Given the description of an element on the screen output the (x, y) to click on. 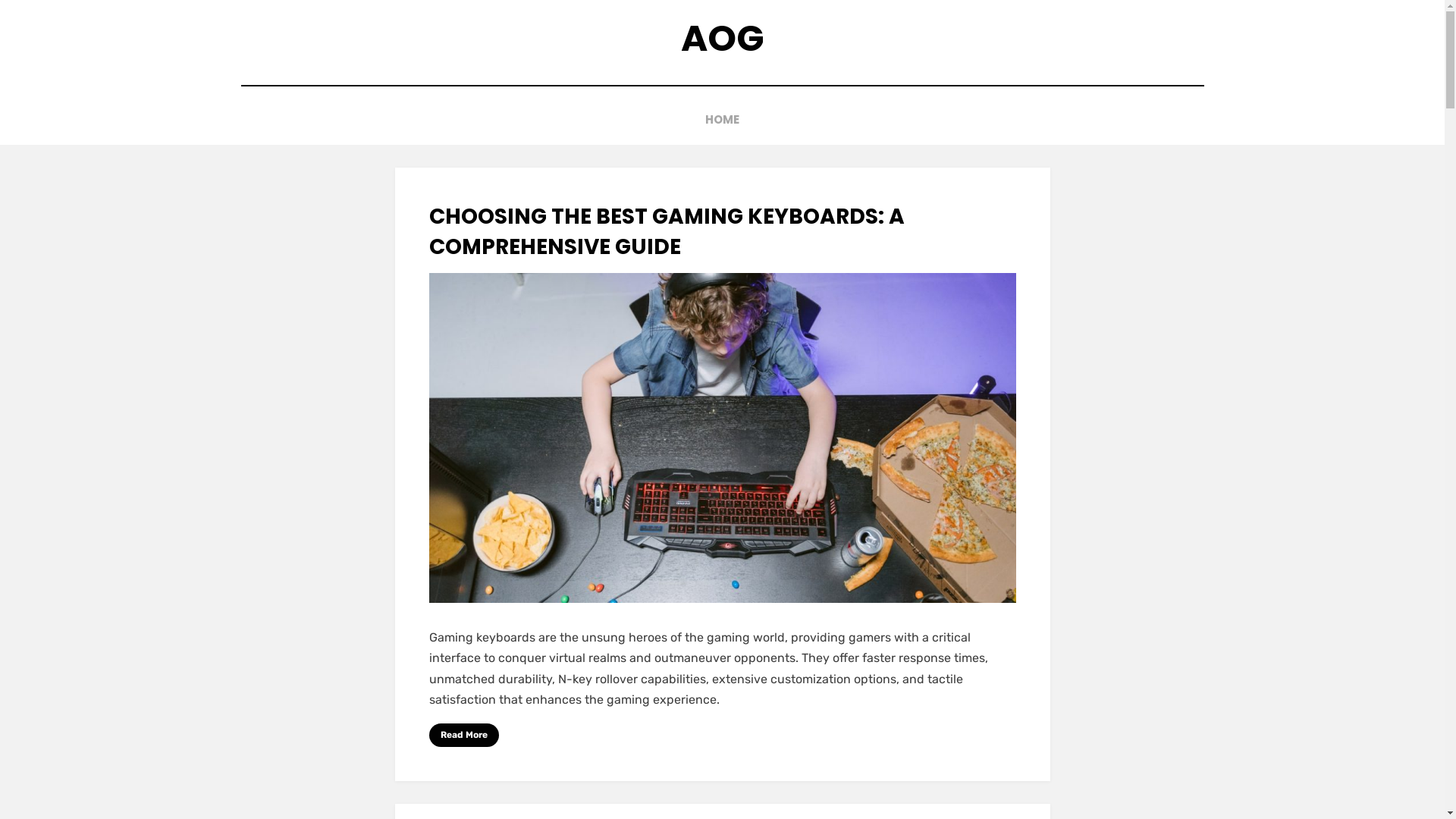
Read More Element type: text (463, 735)
AOG Element type: text (722, 37)
HOME Element type: text (722, 119)
CHOOSING THE BEST GAMING KEYBOARDS: A COMPREHENSIVE GUIDE Element type: text (666, 230)
